Given the description of an element on the screen output the (x, y) to click on. 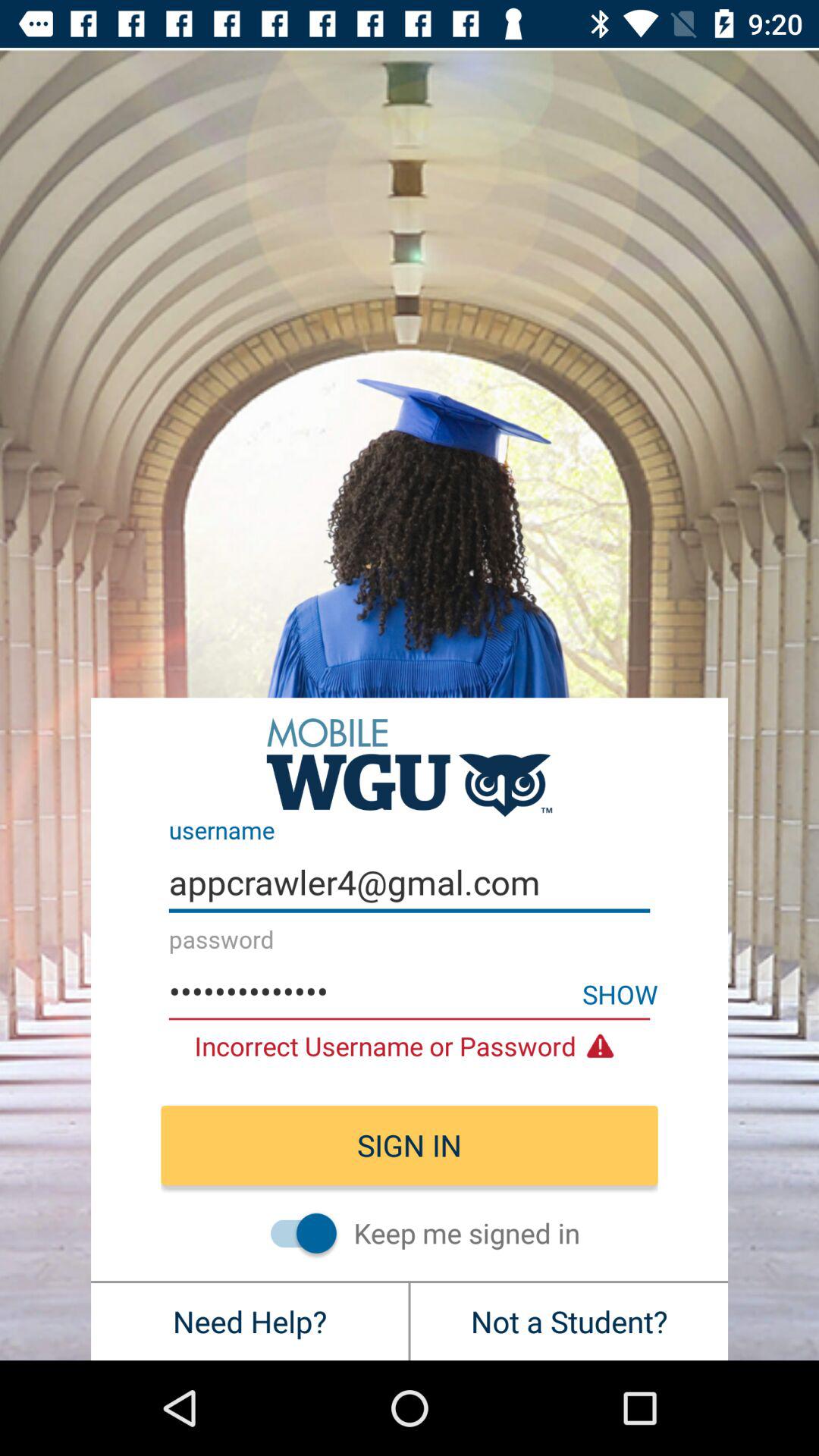
press icon below appcrawler4@gmal.com icon (620, 993)
